Given the description of an element on the screen output the (x, y) to click on. 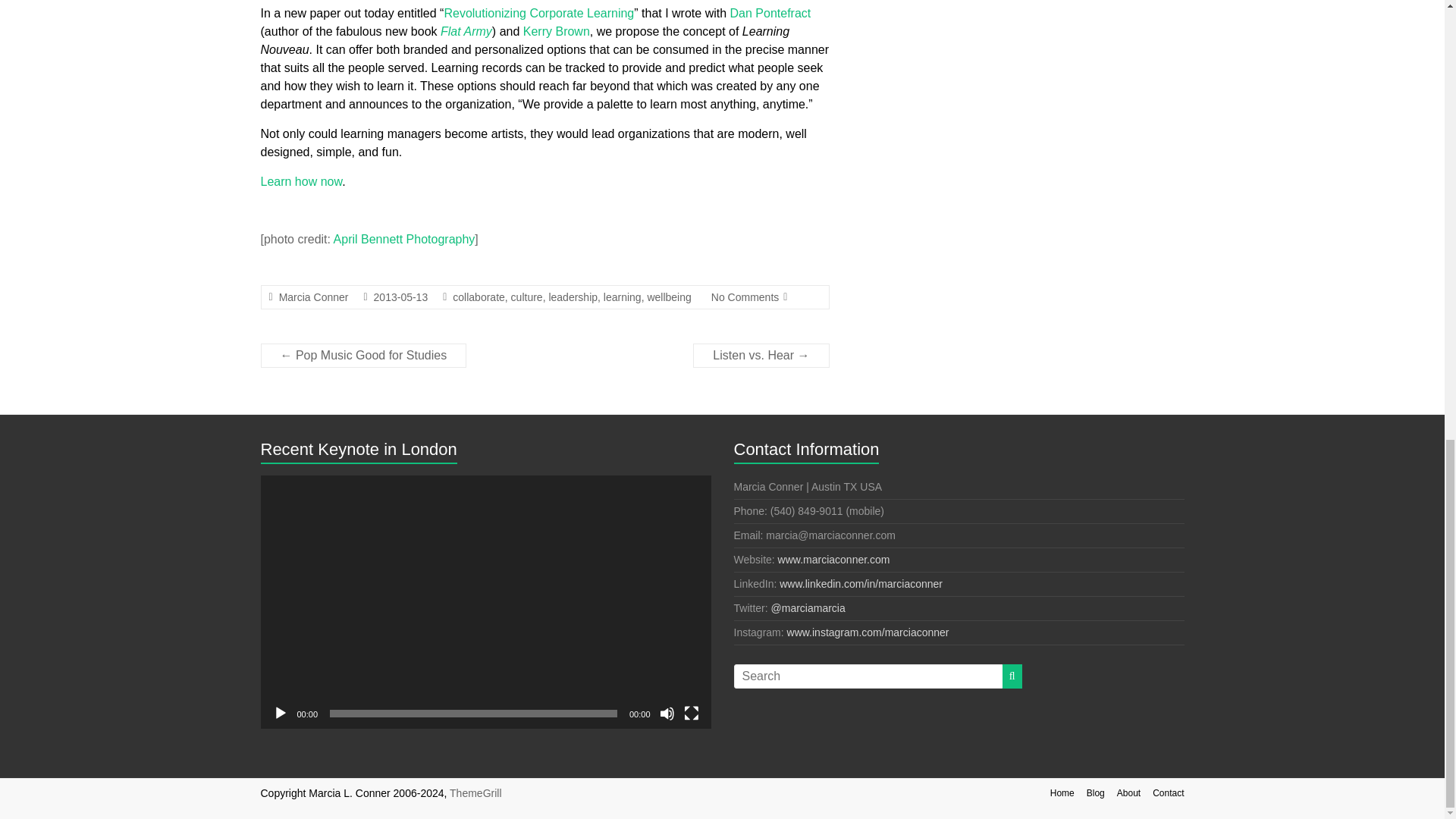
9:01 am (401, 297)
Play (280, 713)
Kerry Brown (555, 31)
Learning Nouveau (301, 181)
Dan Pontefract (770, 12)
Revolutionizing Corporate Learning (538, 12)
Dan Pontefract (770, 12)
April Bennett Photography (404, 238)
Learning Nouveau (538, 12)
Kerry Brown (555, 31)
Flat Army (466, 31)
Flat Army (466, 31)
